Given the description of an element on the screen output the (x, y) to click on. 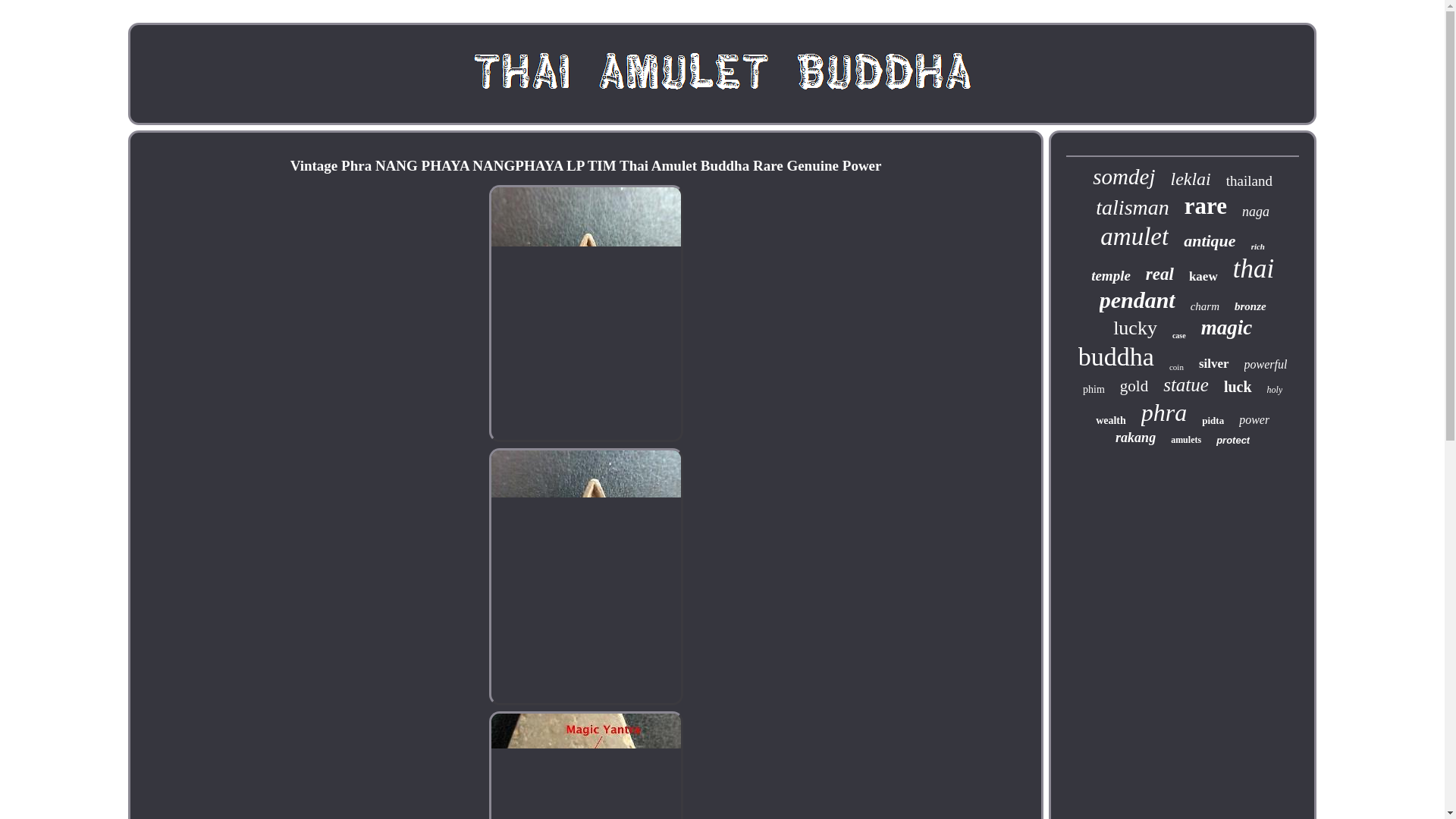
luck (1238, 386)
powerful (1265, 364)
kaew (1203, 276)
rare (1206, 206)
statue (1185, 384)
thailand (1248, 180)
magic (1226, 327)
amulet (1134, 236)
thai (1253, 268)
somdej (1123, 176)
